Given the description of an element on the screen output the (x, y) to click on. 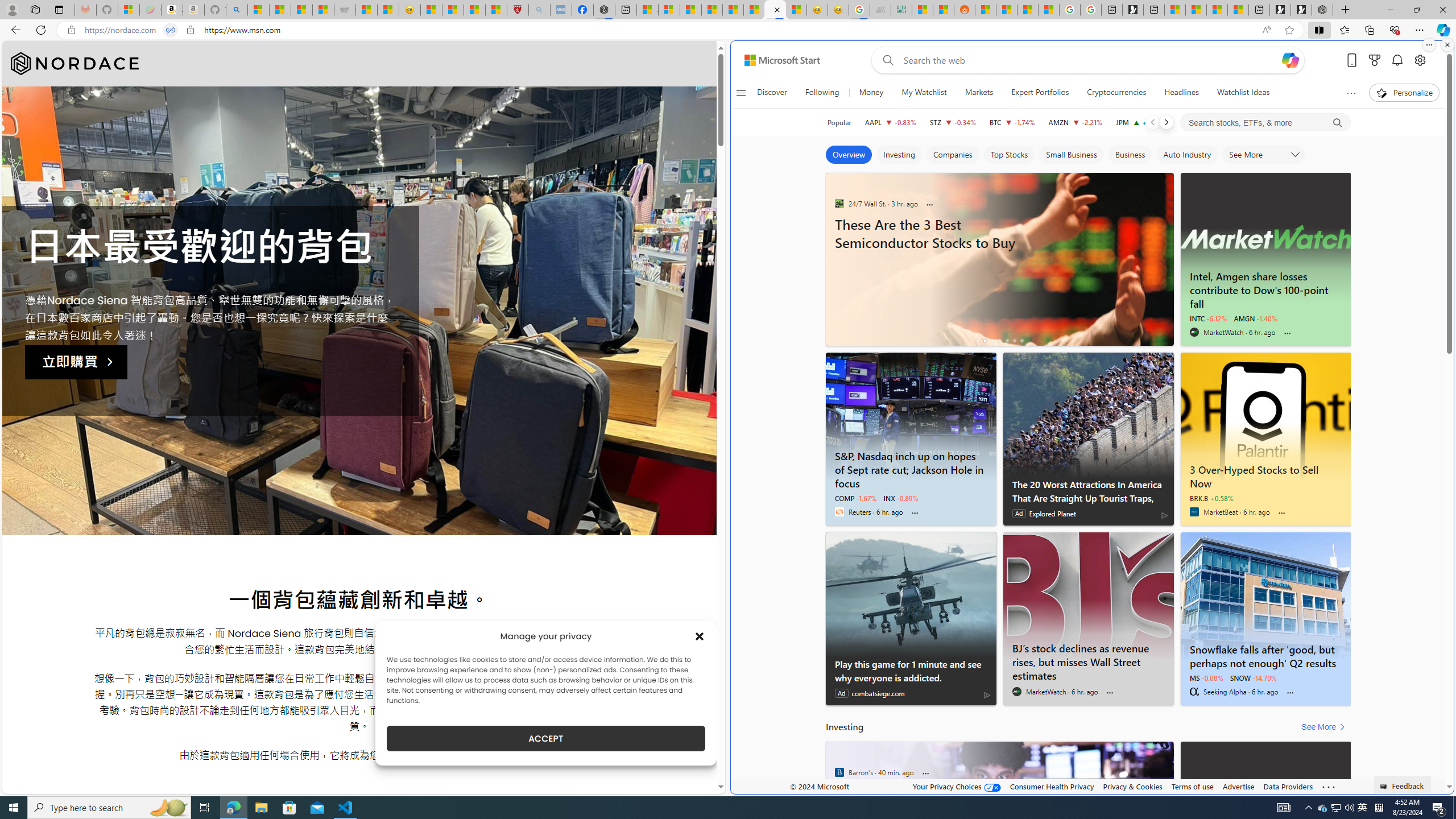
Combat Siege (345, 9)
Consumer Health Privacy (1051, 786)
Open navigation menu (740, 92)
